Given the description of an element on the screen output the (x, y) to click on. 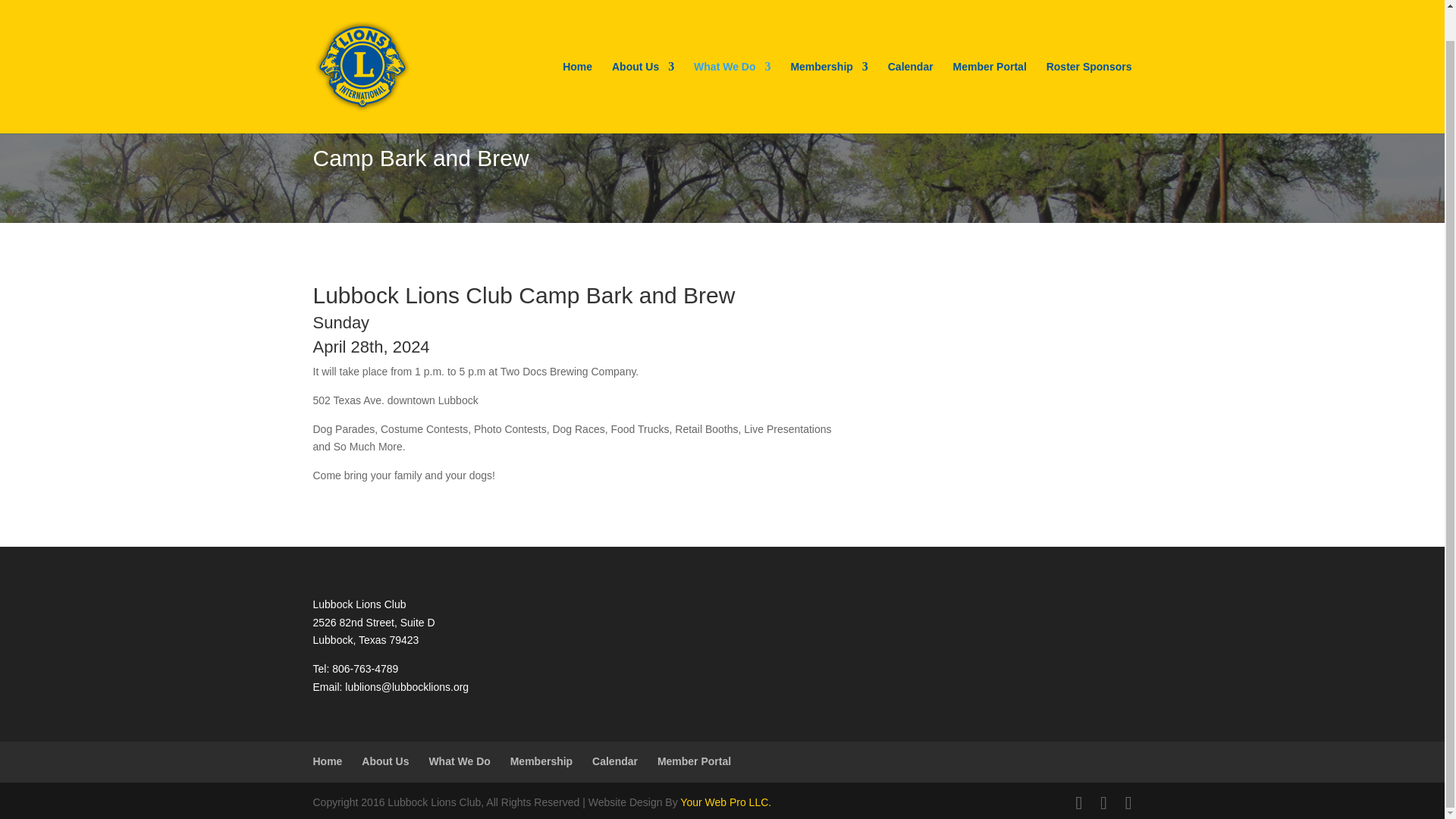
Roster Sponsors (1089, 65)
Member Portal (989, 65)
Membership (828, 65)
What We Do (732, 65)
